Given the description of an element on the screen output the (x, y) to click on. 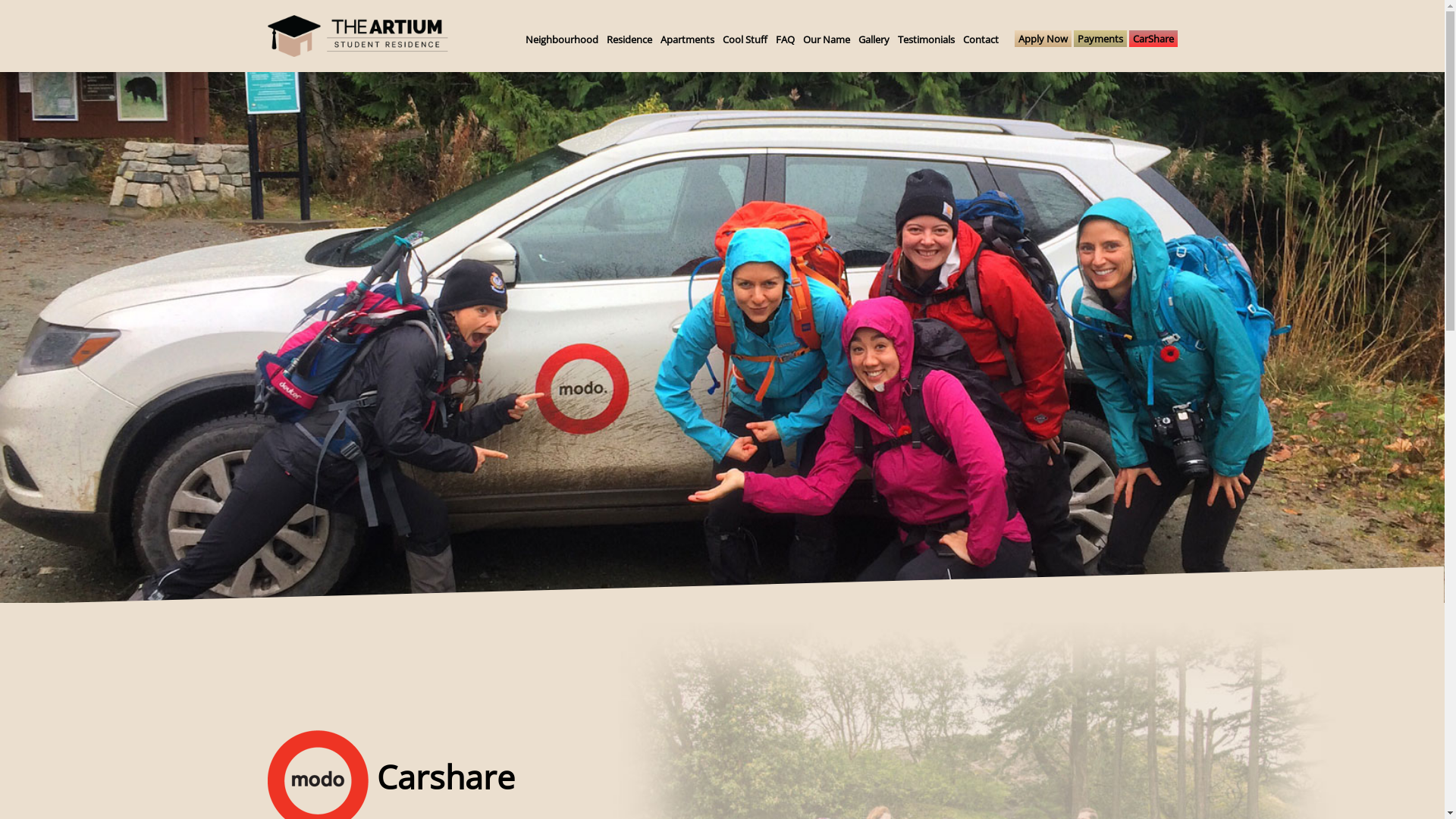
Apartments Element type: text (686, 39)
CarShare Element type: text (1152, 38)
Cool Stuff Element type: text (743, 39)
FAQ Element type: text (784, 39)
Residence Element type: text (629, 39)
Our Name Element type: text (825, 39)
Payments Element type: text (1099, 38)
Testimonials Element type: text (925, 39)
Contact Element type: text (980, 39)
Neighbourhood Element type: text (560, 39)
Gallery Element type: text (873, 39)
Apply Now Element type: text (1041, 38)
